Given the description of an element on the screen output the (x, y) to click on. 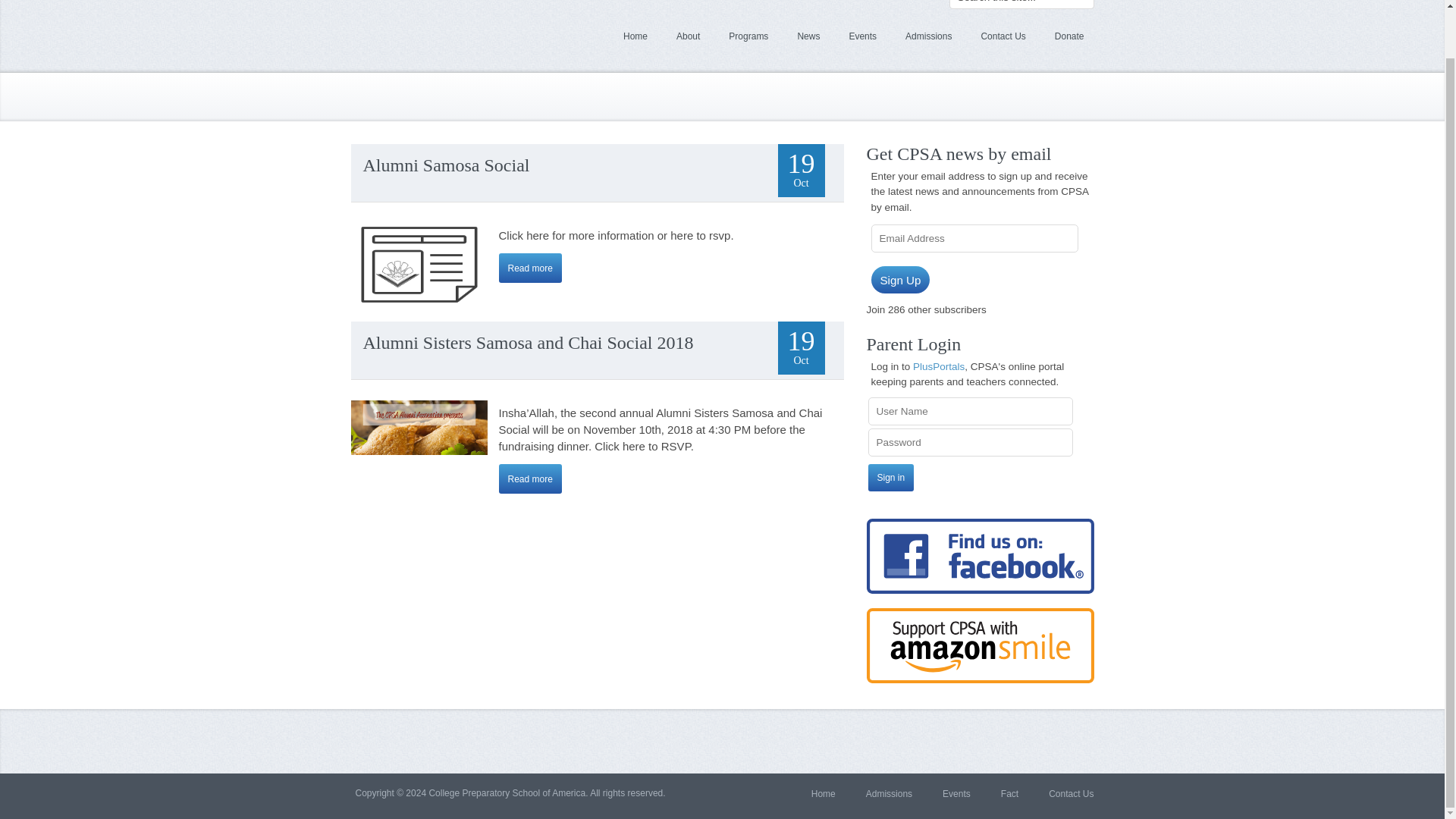
Alumni Samosa Social (445, 165)
Contact Us (1003, 37)
Alumni Samosa Social (530, 267)
Alumni Sisters Samosa and Chai Social 2018 (530, 478)
Alumni Sisters Samosa and Chai Social 2018 (527, 342)
Admissions (927, 37)
Search this site... (1021, 4)
About (688, 37)
Events (862, 37)
News (808, 37)
